Given the description of an element on the screen output the (x, y) to click on. 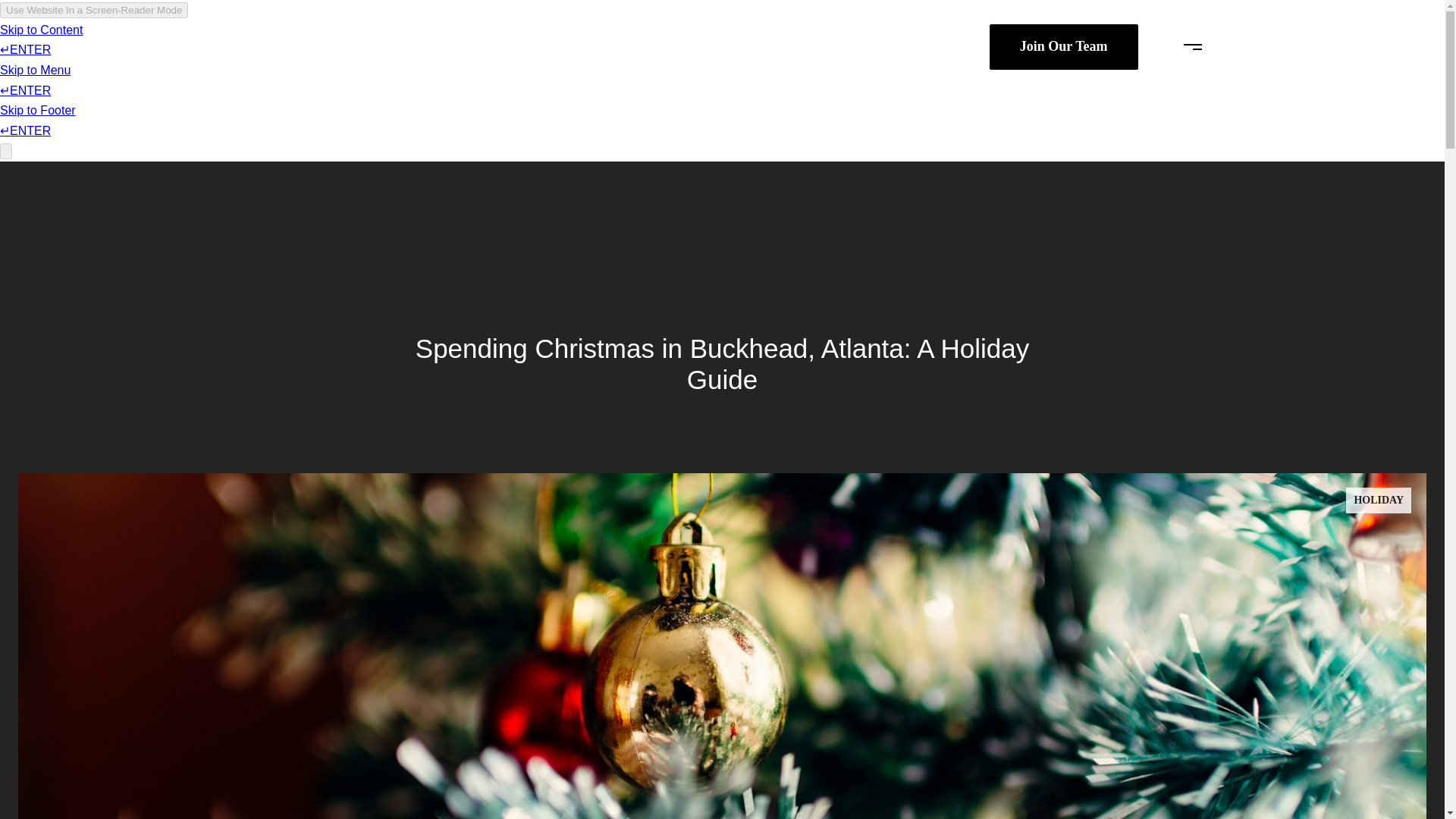
Home Search (513, 46)
Communities (625, 46)
Team (810, 46)
Contact Us (729, 46)
Join Our Team (1063, 46)
